Given the description of an element on the screen output the (x, y) to click on. 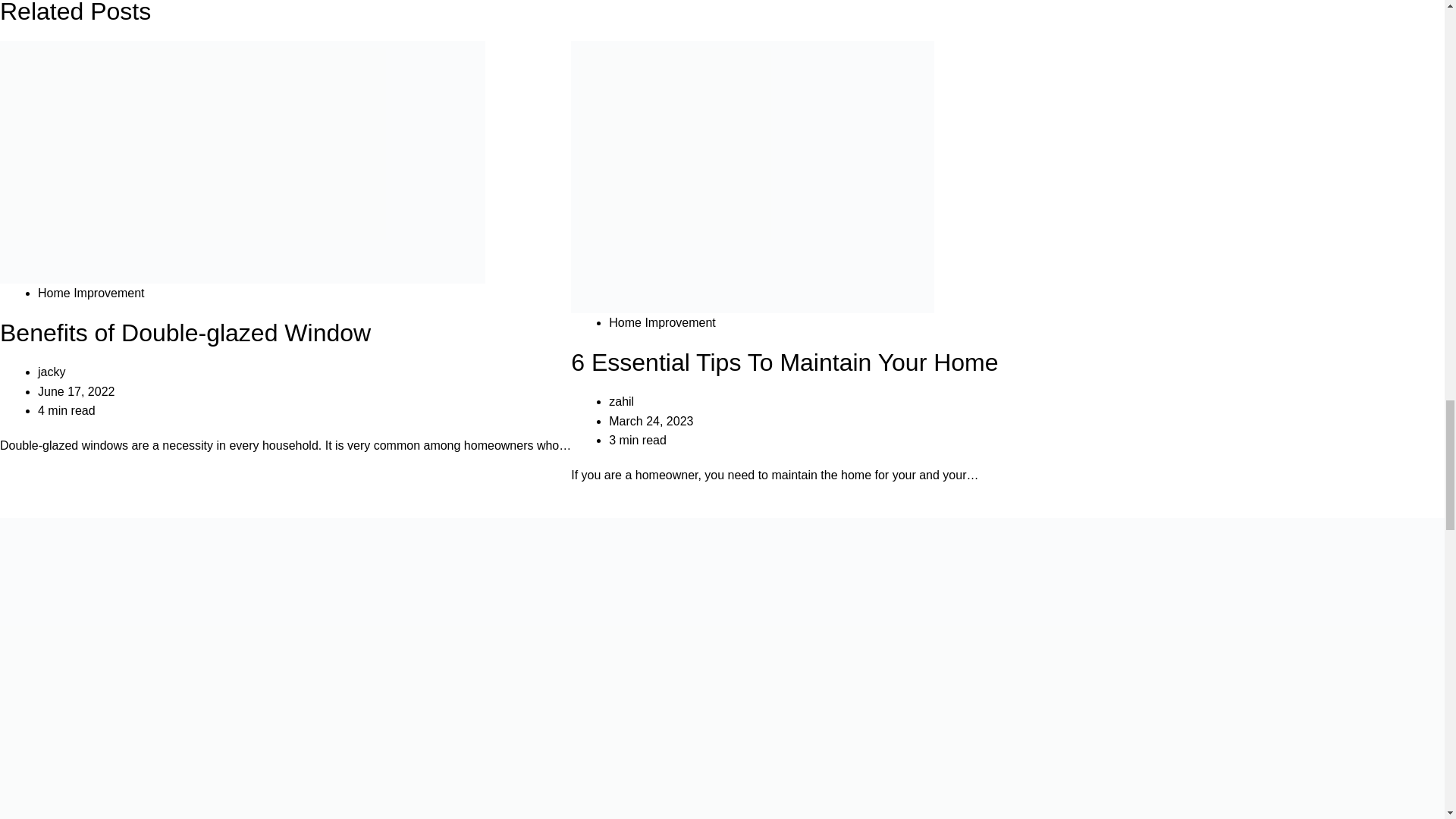
zahil (620, 400)
Benefits of Double-glazed Window (185, 332)
6 Essential Tips To Maintain Your Home (783, 361)
jacky (51, 371)
Home Improvement (662, 322)
Home Improvement (90, 292)
